Given the description of an element on the screen output the (x, y) to click on. 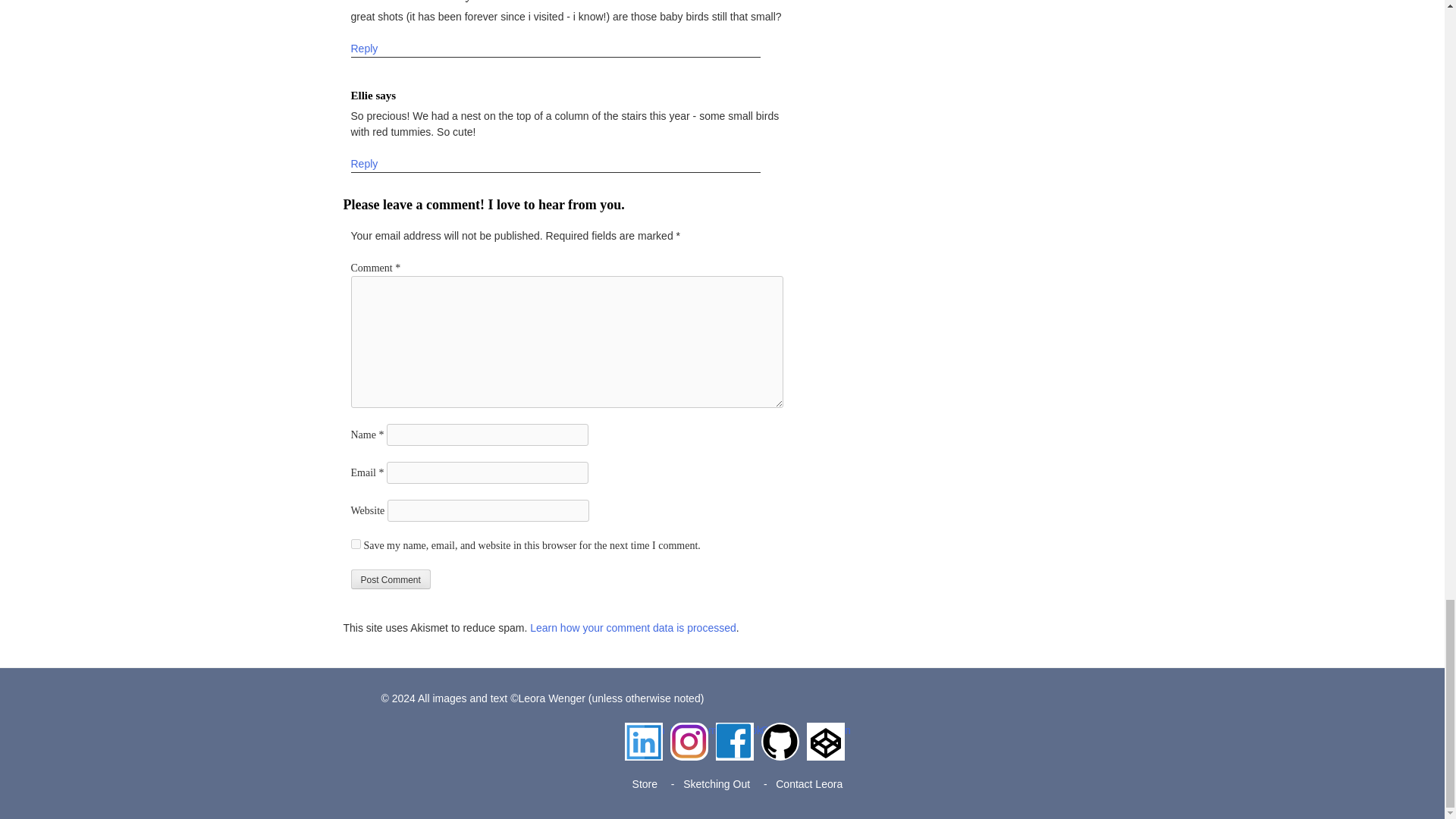
Reply (363, 164)
Reply (363, 48)
yes (354, 543)
Post Comment (389, 578)
